Given the description of an element on the screen output the (x, y) to click on. 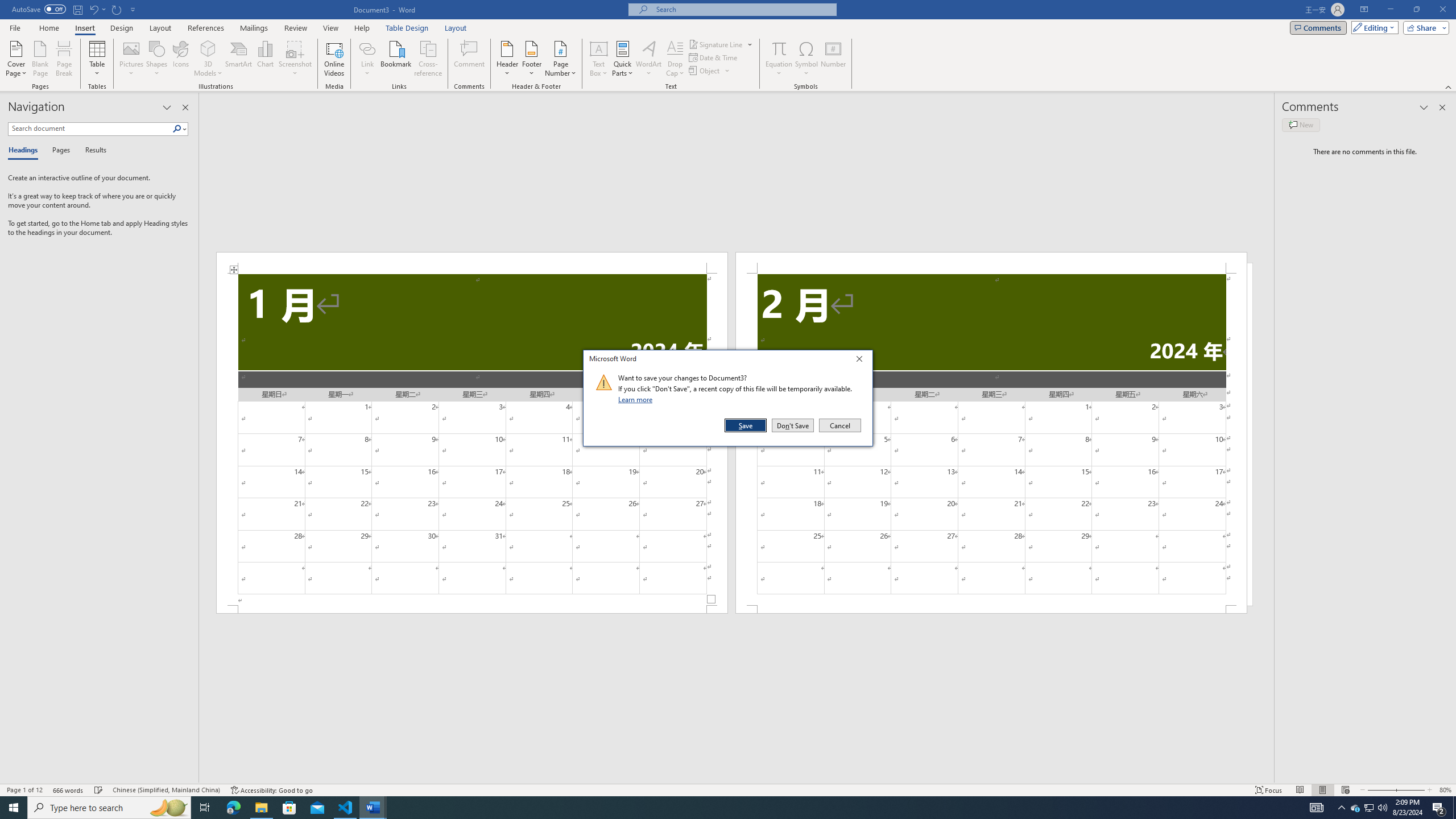
Ribbon Display Options (1364, 9)
Number... (833, 58)
Date & Time... (714, 56)
Equation (778, 48)
Class: NetUIScrollBar (736, 778)
Page Number (560, 58)
Help (361, 28)
Link (367, 48)
Equation (778, 58)
Table (97, 58)
AutoSave (38, 9)
Running applications (717, 807)
View (330, 28)
Headings (25, 150)
3D Models (208, 48)
